Given the description of an element on the screen output the (x, y) to click on. 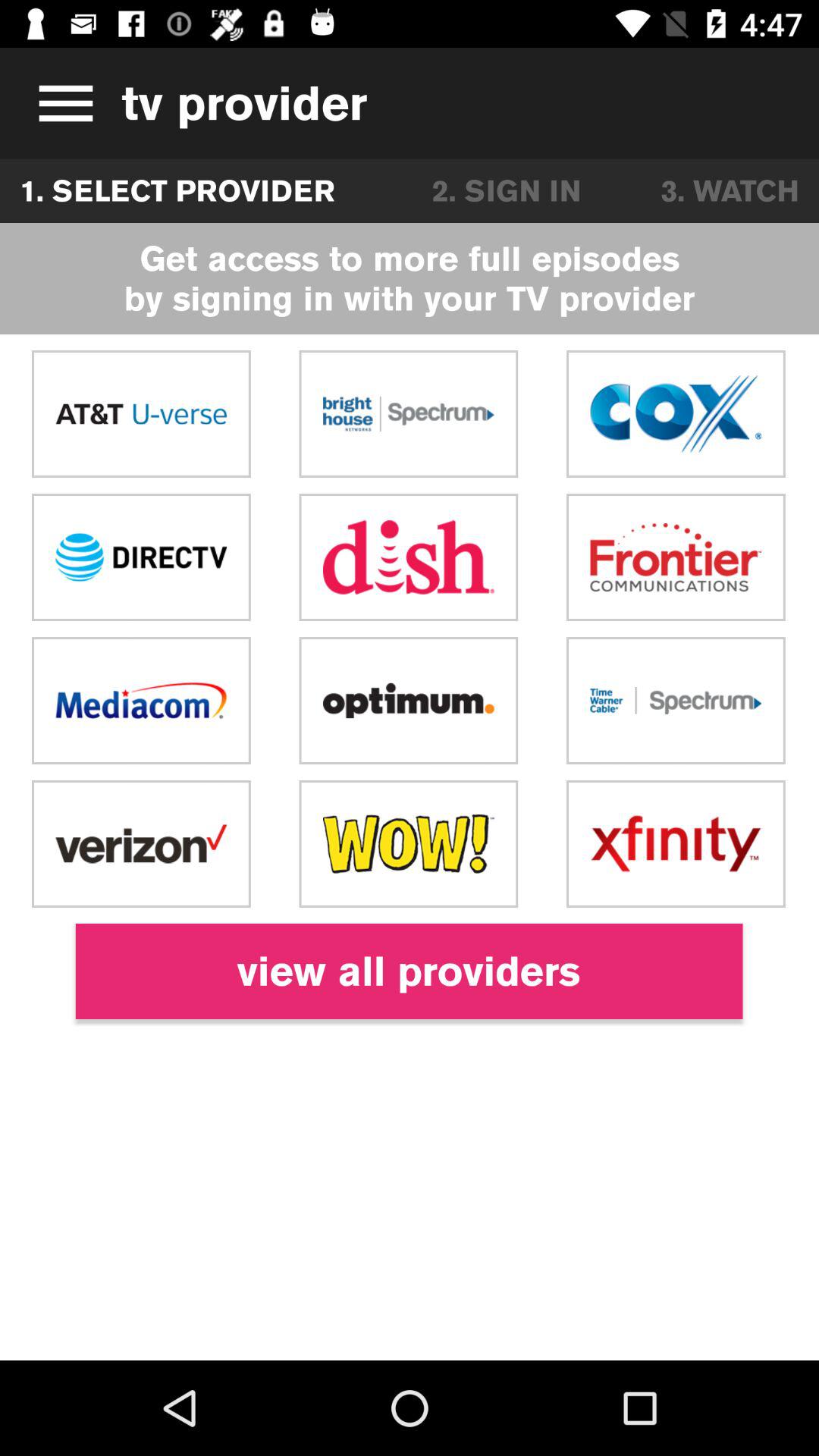
scroll to view all providers (408, 971)
